Given the description of an element on the screen output the (x, y) to click on. 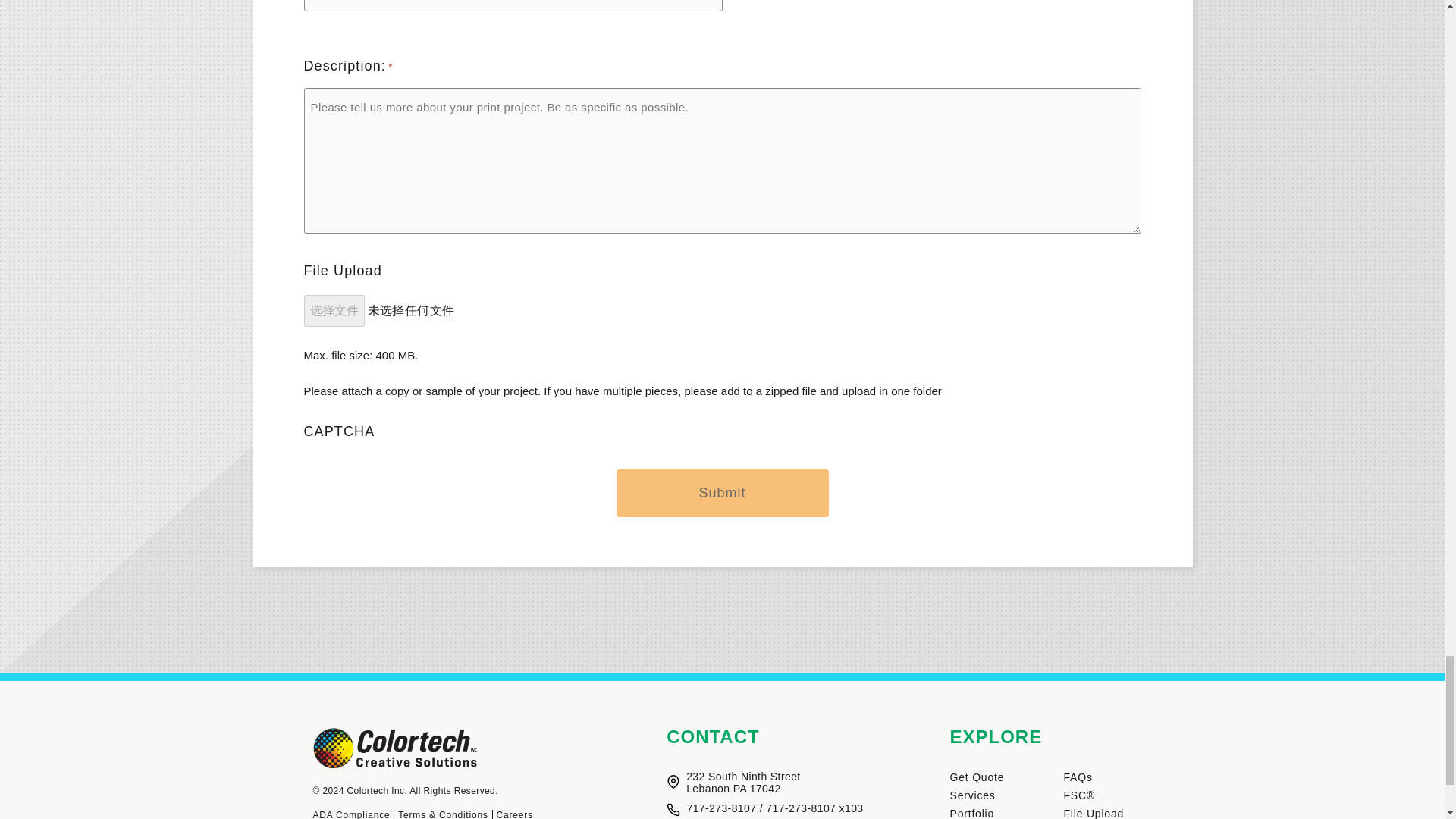
Submit (721, 492)
